Given the description of an element on the screen output the (x, y) to click on. 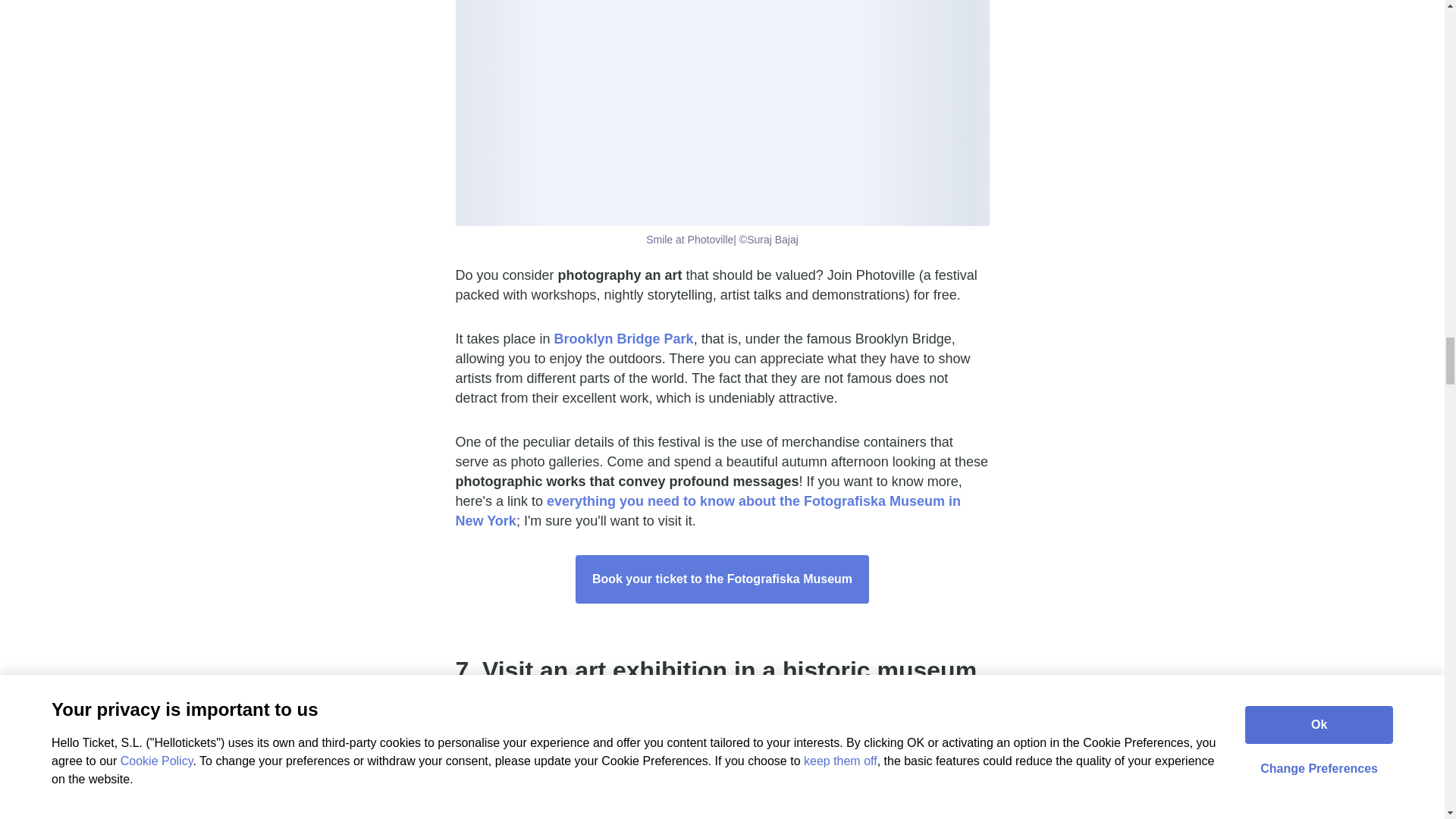
Book your ticket to the Fotografiska Museum (722, 579)
Brooklyn Bridge Park (624, 338)
